Given the description of an element on the screen output the (x, y) to click on. 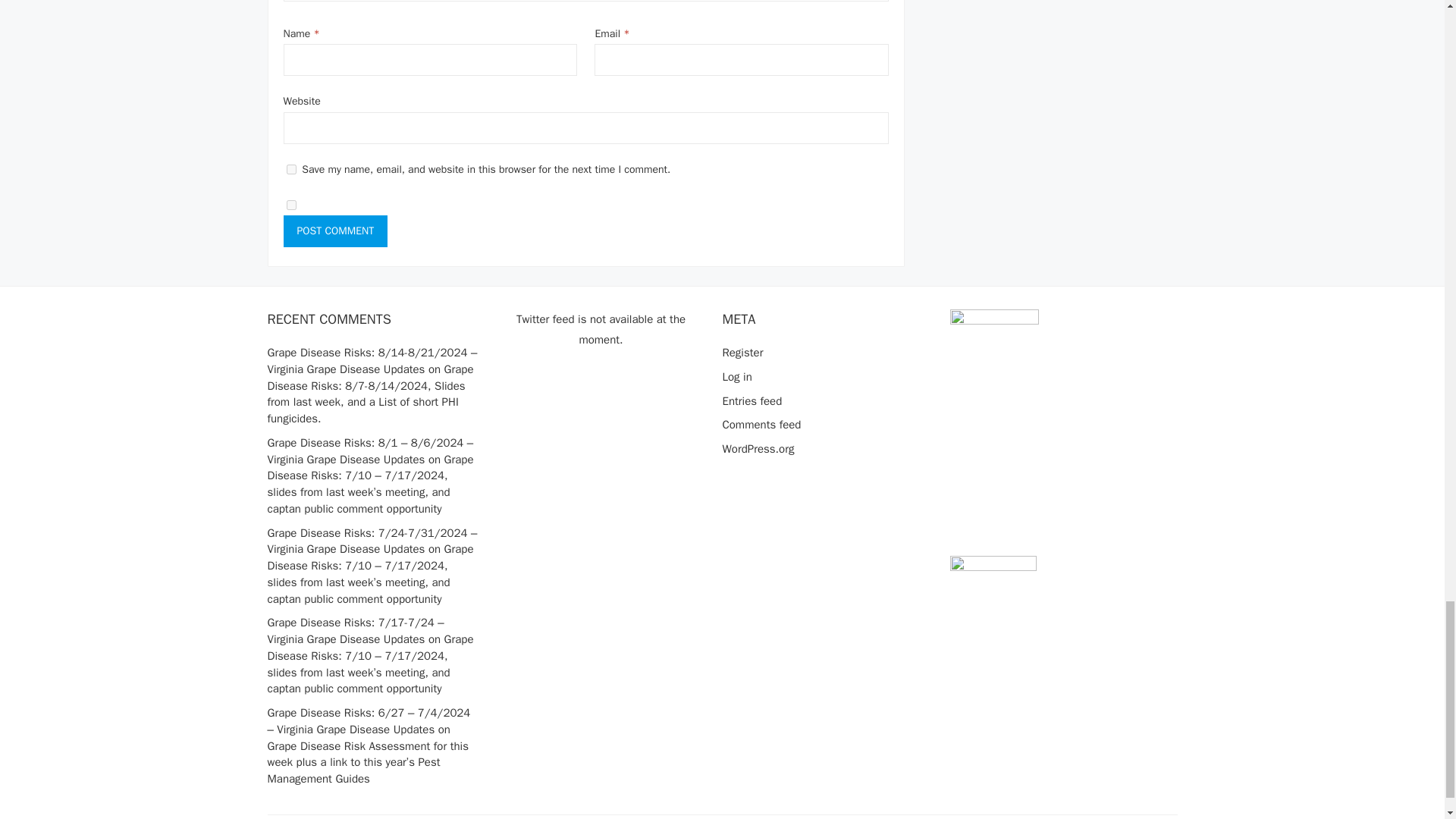
Post Comment (335, 231)
Post Comment (335, 231)
yes (291, 169)
yes (291, 204)
